Given the description of an element on the screen output the (x, y) to click on. 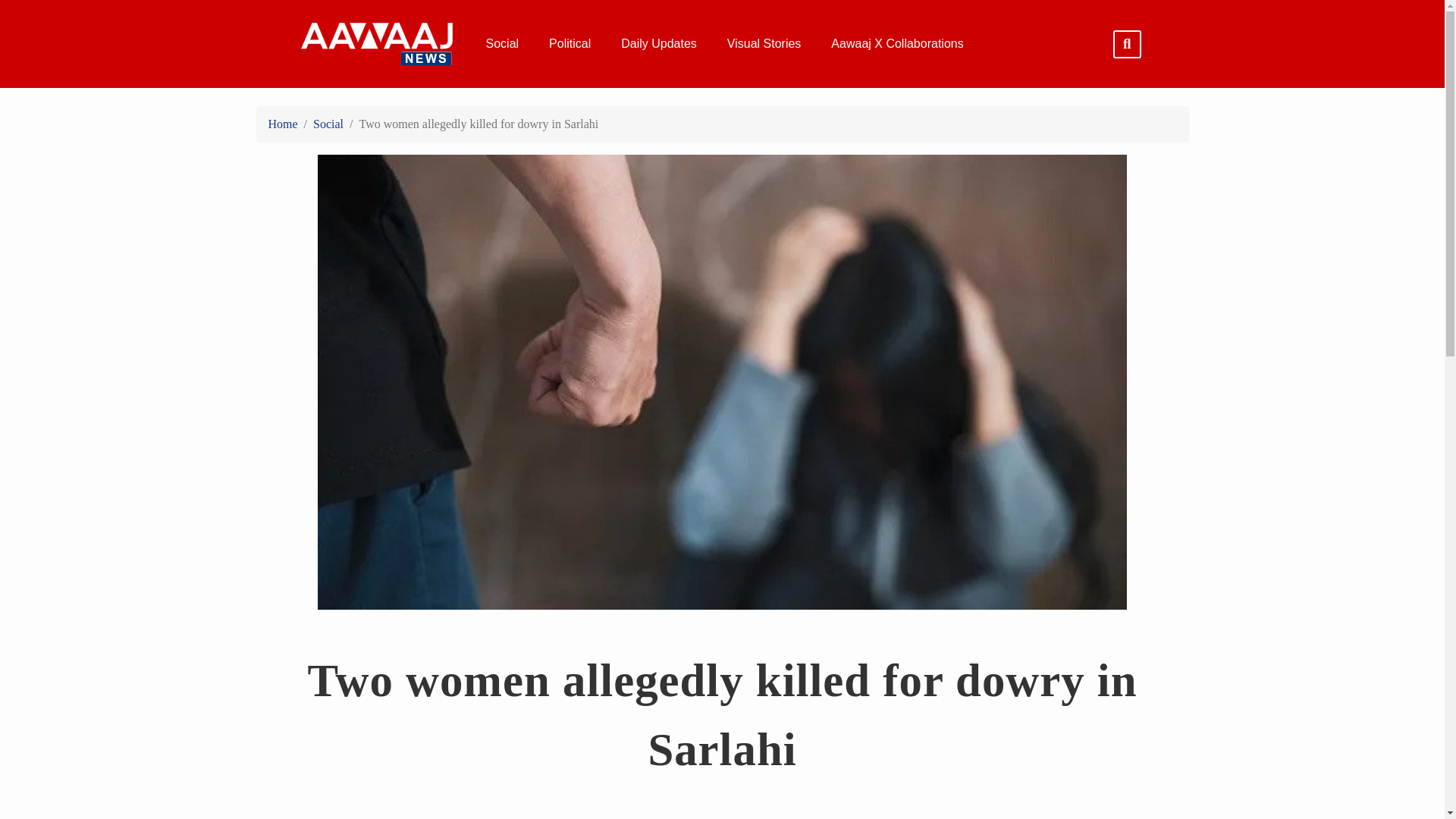
Social (502, 43)
Political (569, 43)
Social (328, 123)
Visual Stories (763, 43)
Home (282, 123)
Daily Updates (658, 43)
Aawaaj X Collaborations (896, 43)
